Given the description of an element on the screen output the (x, y) to click on. 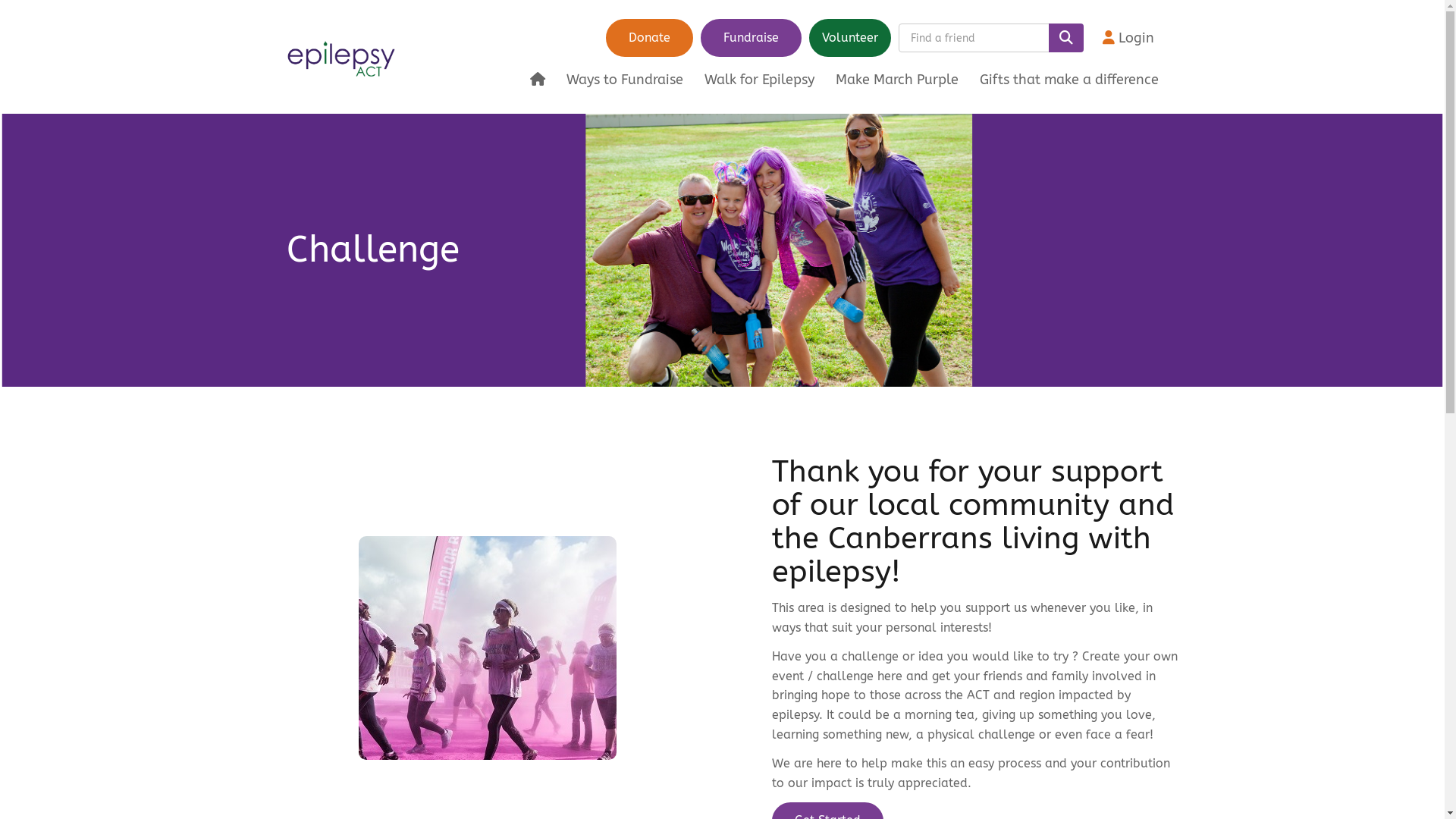
Login Element type: text (1128, 37)
Volunteer Element type: text (850, 37)
Walk for Epilepsy Element type: text (759, 79)
Ways to Fundraise Element type: text (624, 79)
Make March Purple Element type: text (897, 79)
Gifts that make a difference Element type: text (1069, 79)
Donate Element type: text (649, 37)
Fundraise Element type: text (750, 37)
